Given the description of an element on the screen output the (x, y) to click on. 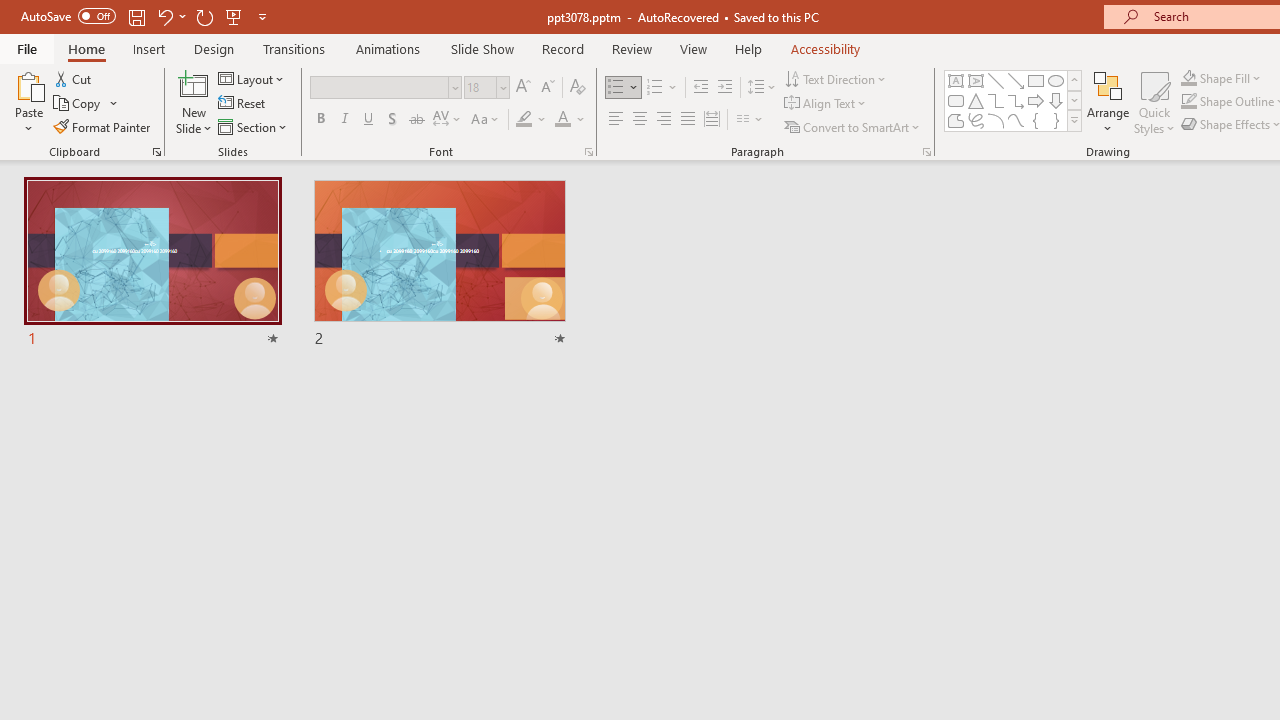
Shape Outline Green, Accent 1 (1188, 101)
